Given the description of an element on the screen output the (x, y) to click on. 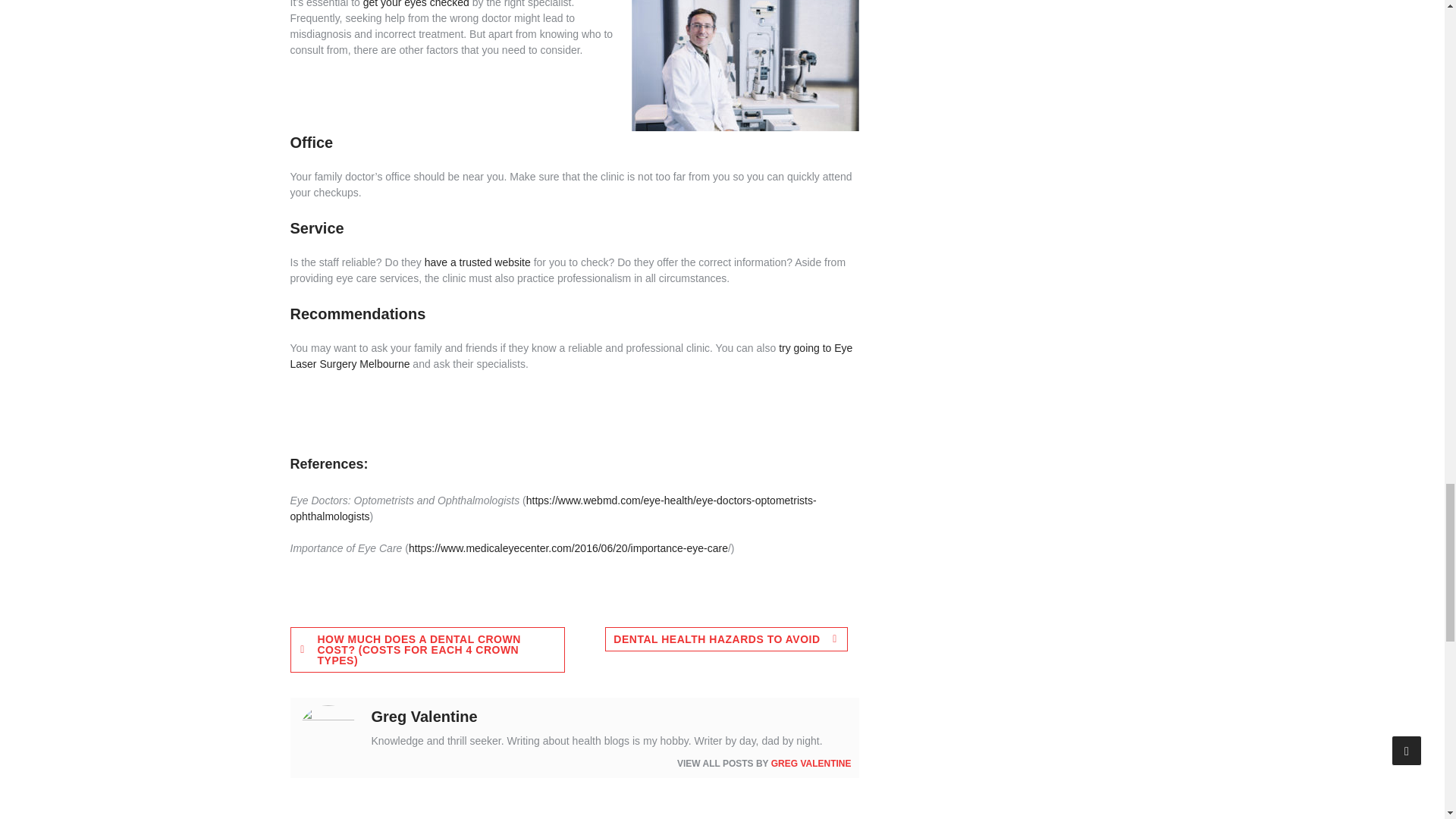
DENTAL HEALTH HAZARDS TO AVOID (726, 639)
have a trusted website (478, 262)
GREG VALENTINE (811, 763)
get your eyes checked (415, 4)
try going to Eye Laser Surgery Melbourne (570, 356)
